Given the description of an element on the screen output the (x, y) to click on. 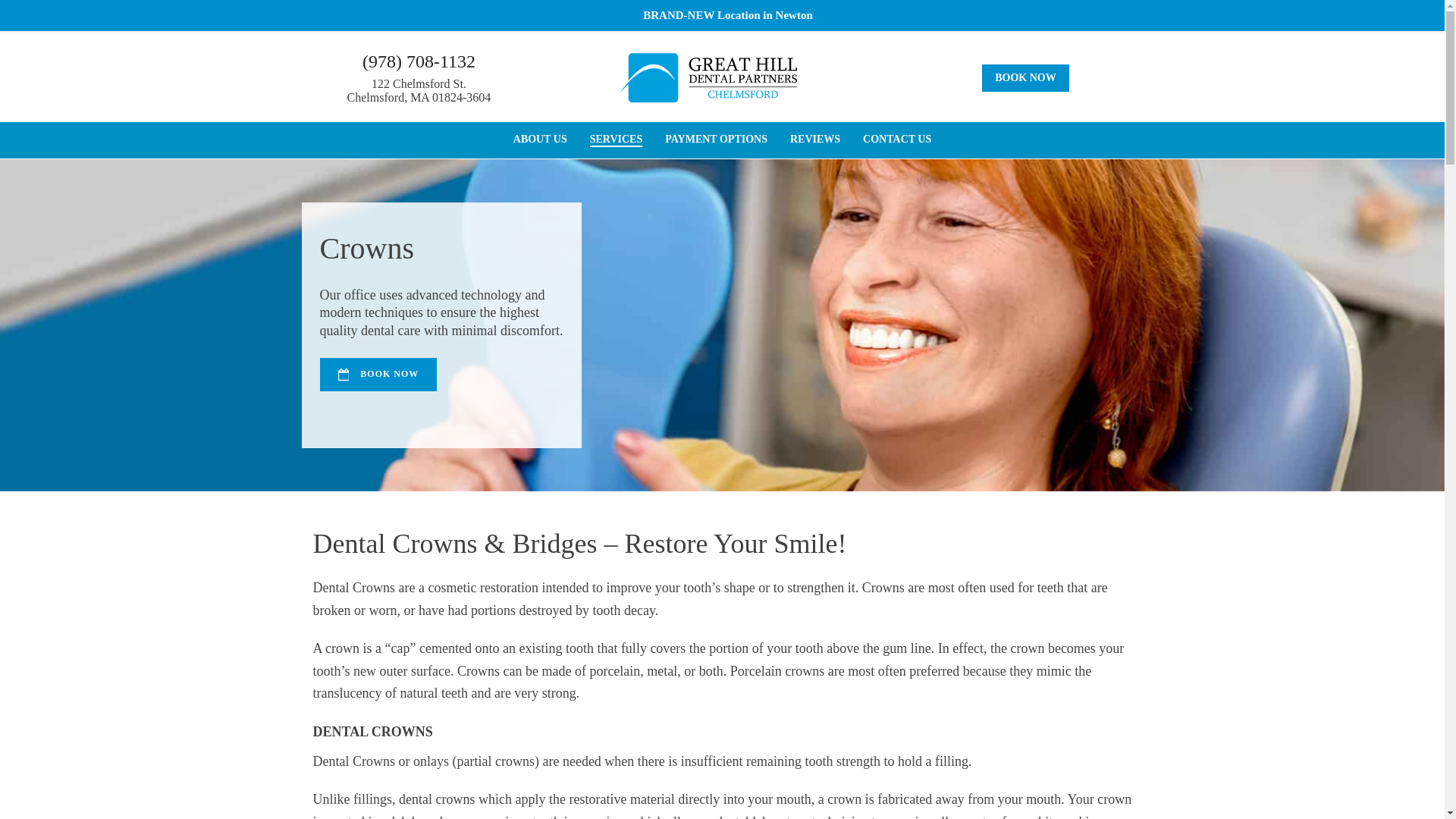
Great Hill Dental Chelmsford (707, 76)
REVIEWS (814, 140)
BOOK NOW (379, 374)
REVIEWS (814, 140)
SERVICES (615, 140)
CONTACT US (419, 90)
ABOUT US (896, 140)
PAYMENT OPTIONS (540, 140)
CONTACT US (715, 140)
BOOK NOW (896, 140)
PAYMENT OPTIONS (1024, 77)
ABOUT US (715, 140)
SERVICES (540, 140)
